Given the description of an element on the screen output the (x, y) to click on. 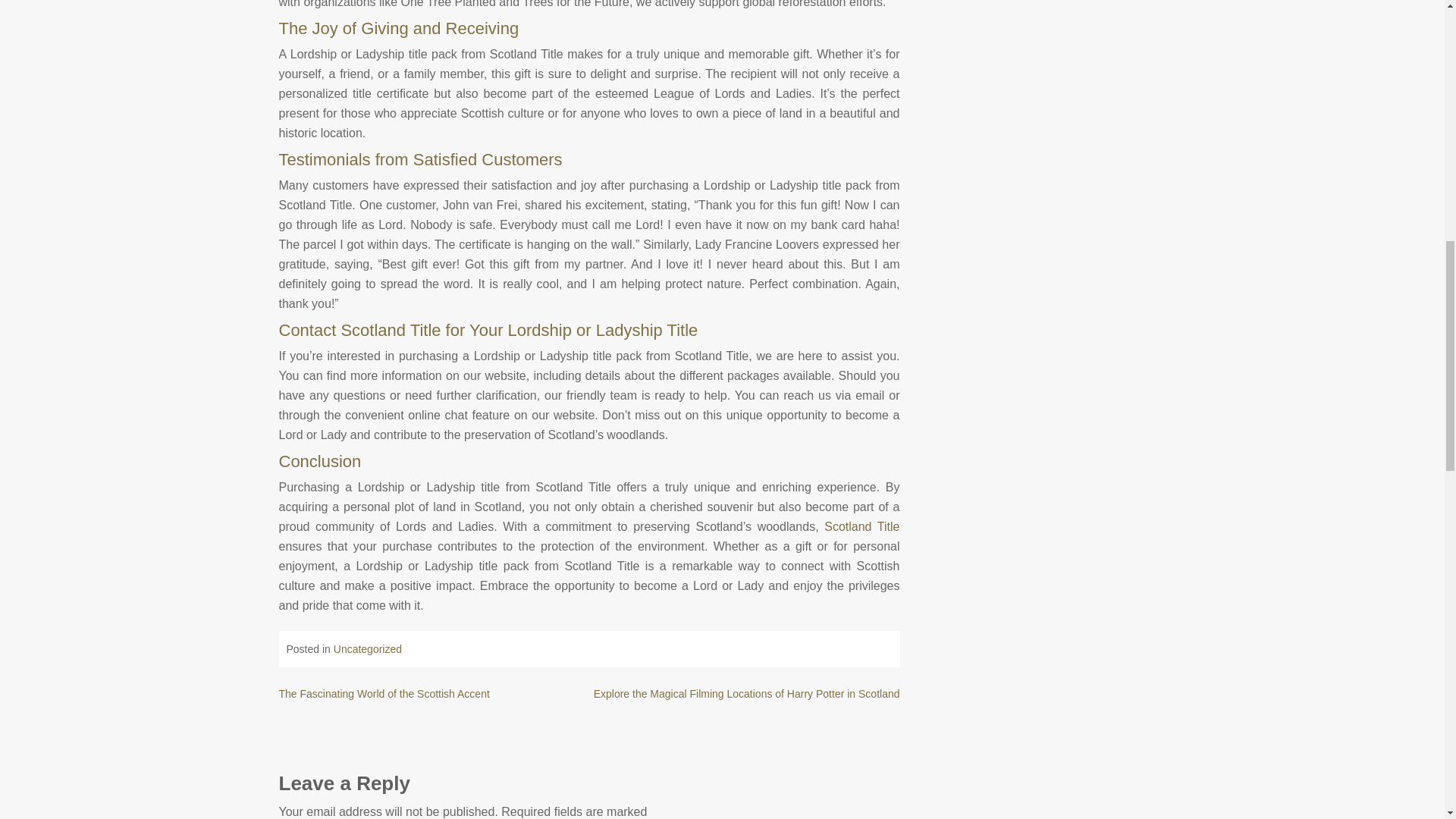
The Fascinating World of the Scottish Accent (384, 693)
Uncategorized (367, 648)
Scotland Title (861, 526)
